Given the description of an element on the screen output the (x, y) to click on. 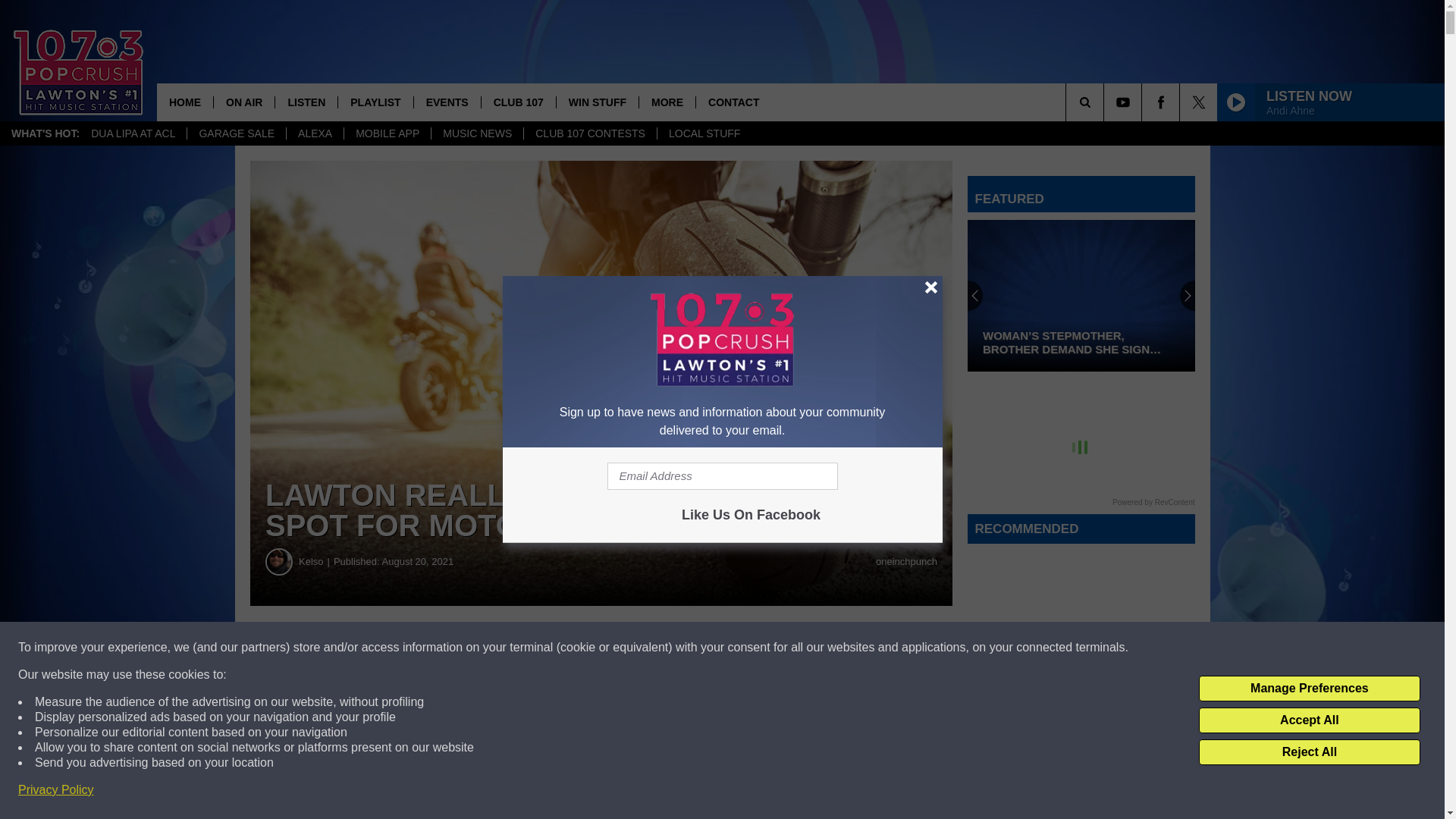
Email Address (722, 475)
Manage Preferences (1309, 688)
Reject All (1309, 751)
Share on Twitter (741, 647)
Accept All (1309, 720)
LISTEN (306, 102)
LOCAL STUFF (703, 133)
PLAYLIST (374, 102)
SEARCH (1106, 102)
CLUB 107 (518, 102)
MOBILE APP (386, 133)
ON AIR (243, 102)
WIN STUFF (597, 102)
EVENTS (446, 102)
Privacy Policy (55, 789)
